Given the description of an element on the screen output the (x, y) to click on. 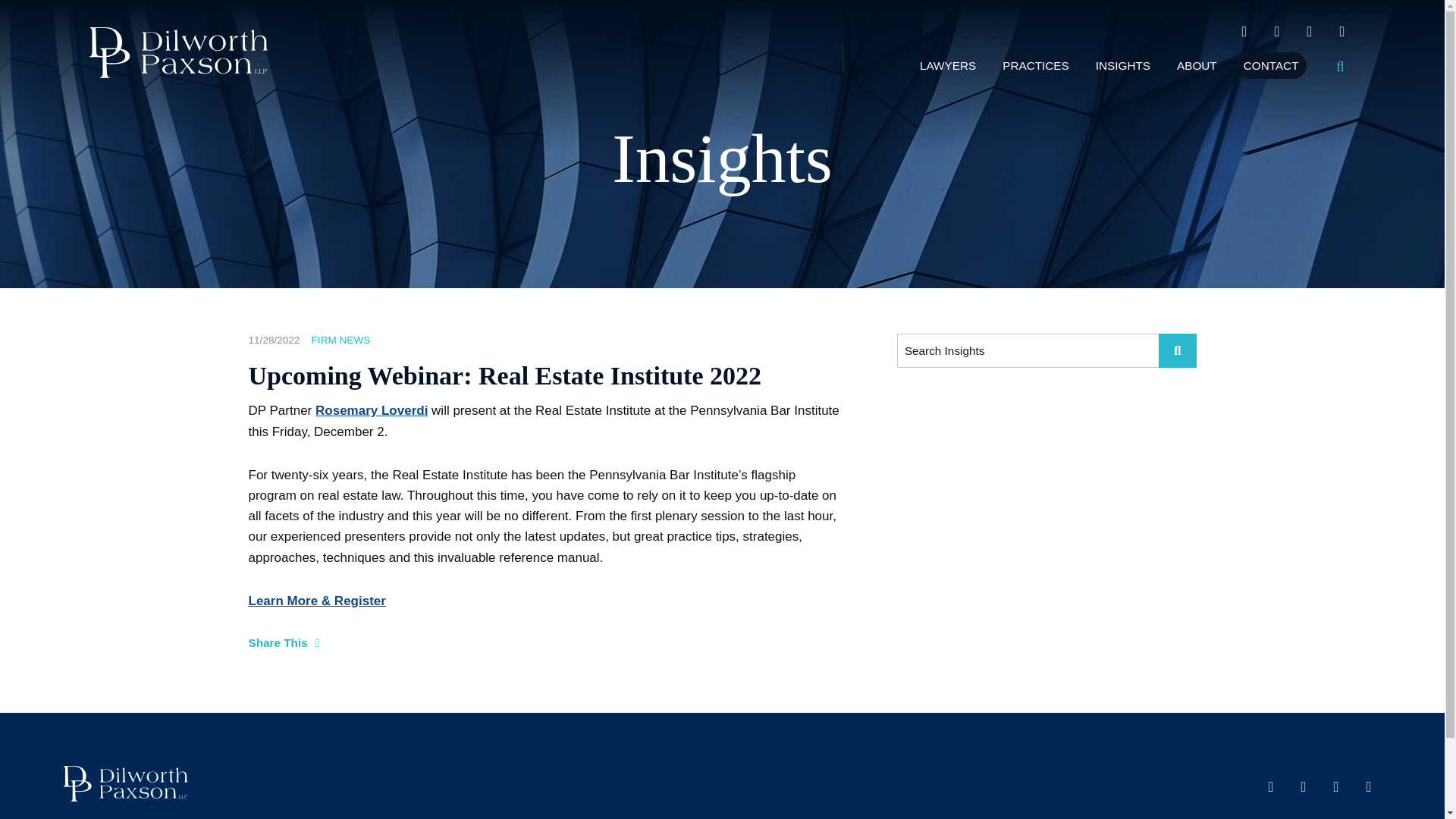
Visit us on Linkedin (1276, 31)
LAWYERS (947, 65)
Visit us on Facebook (1310, 31)
Visit us on Twitter (1341, 31)
Visit us on Youtube (1244, 31)
